Given the description of an element on the screen output the (x, y) to click on. 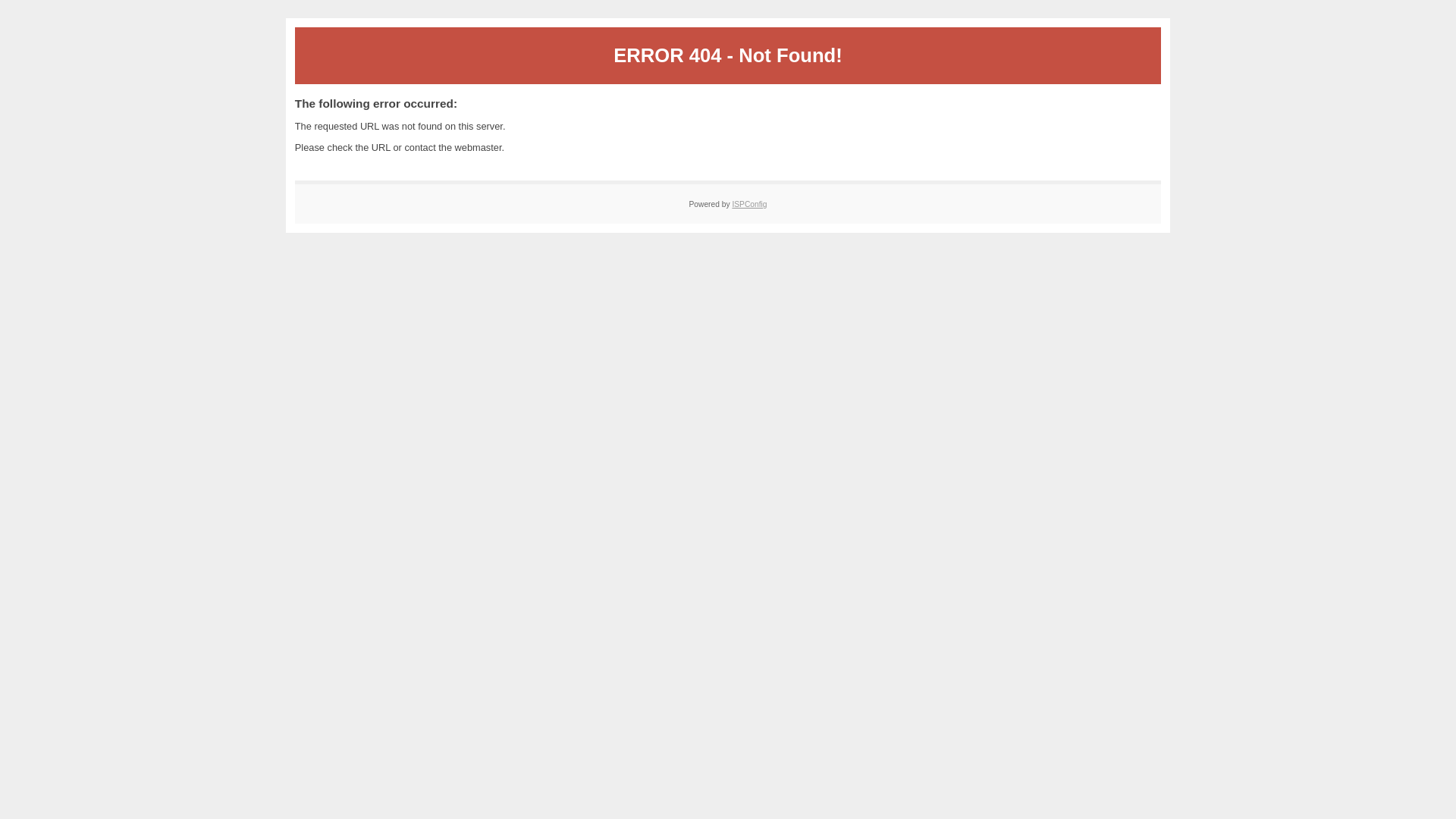
ISPConfig Element type: text (748, 204)
